Given the description of an element on the screen output the (x, y) to click on. 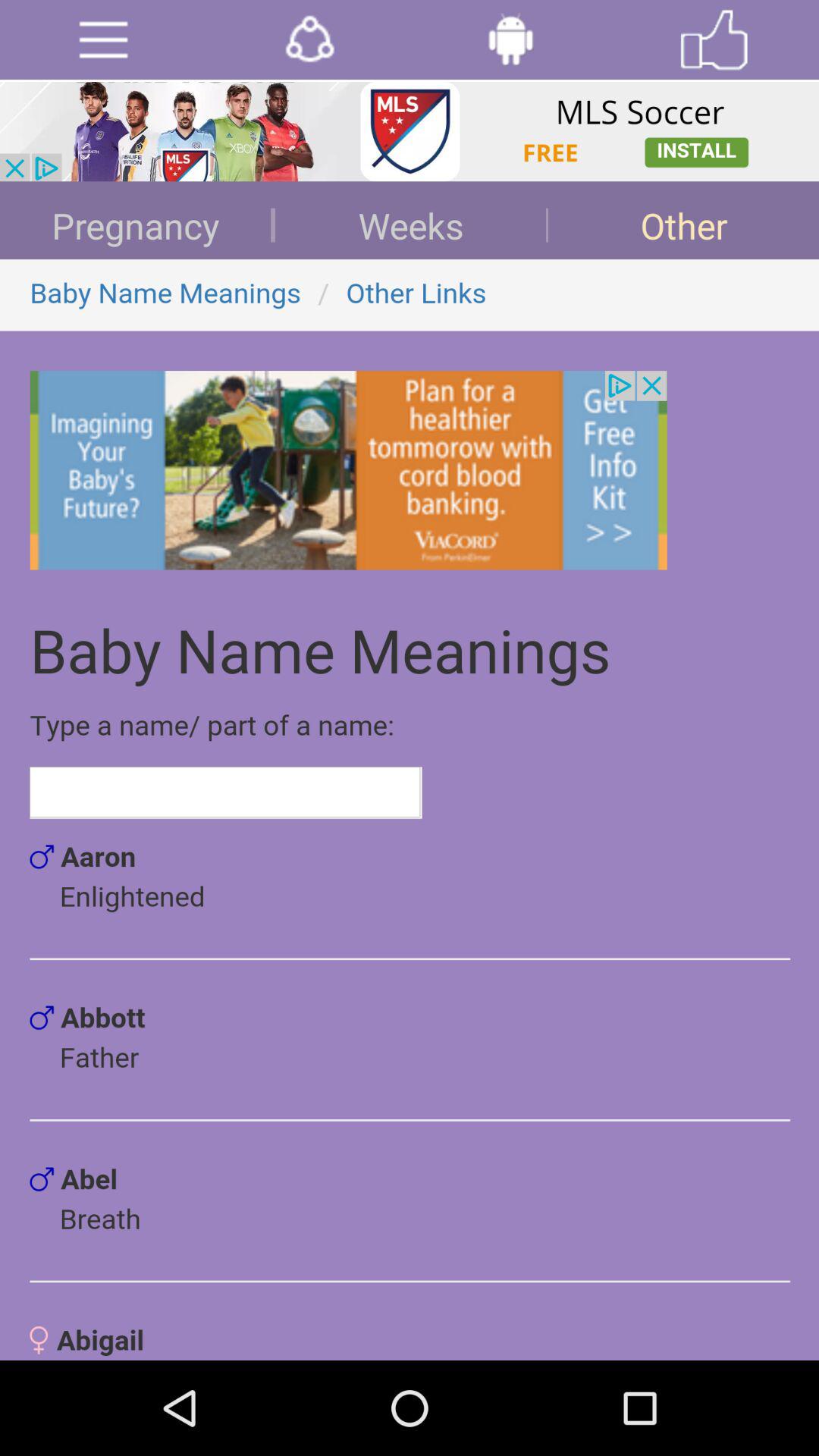
menu option (103, 39)
